Given the description of an element on the screen output the (x, y) to click on. 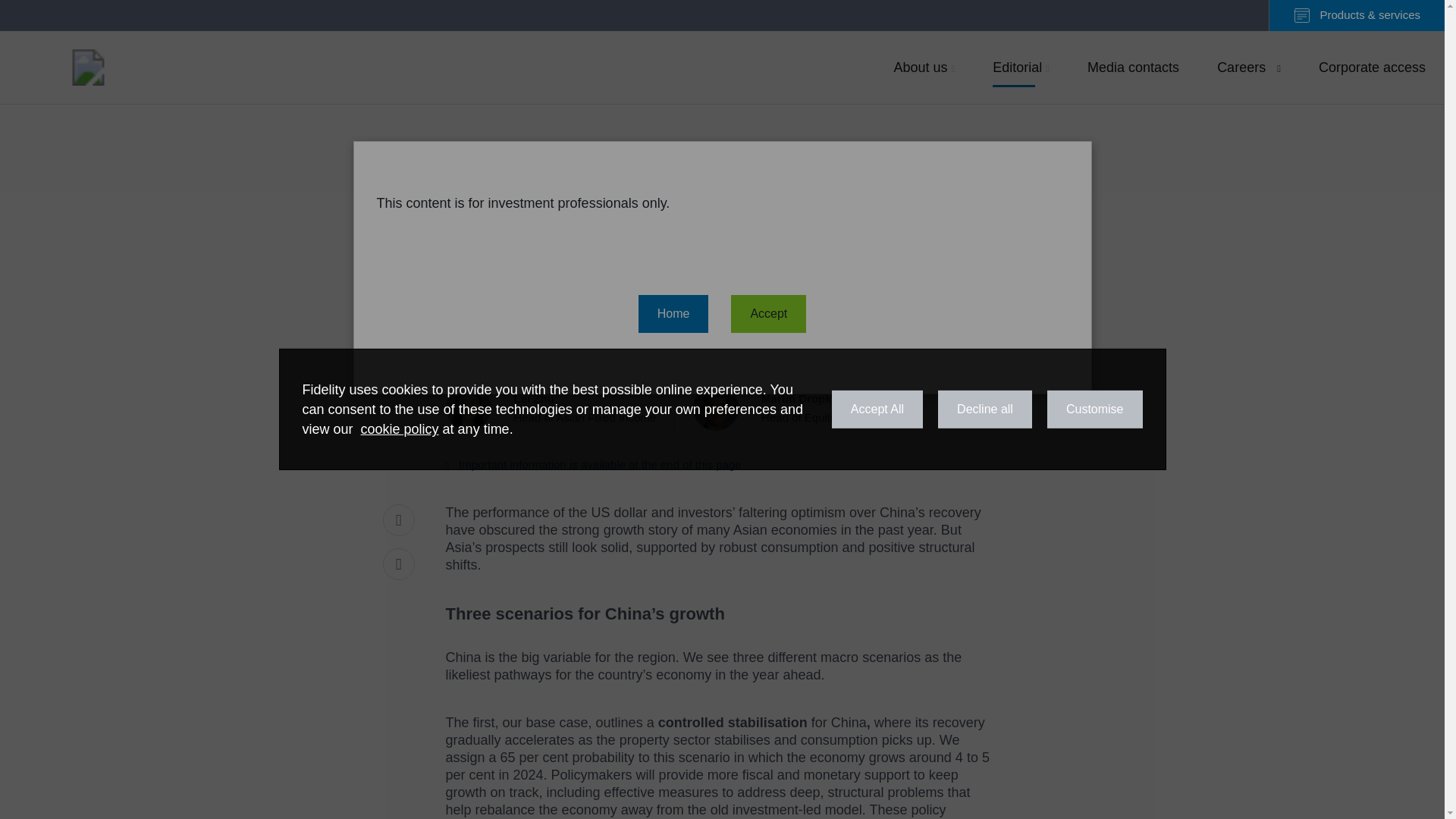
About us (924, 66)
disclaimer (593, 463)
Editorial (1021, 66)
Lei Zhu (560, 408)
Corporate access (1372, 66)
Media contacts (1133, 66)
Fidelity International Logo (800, 408)
Careers (88, 67)
Fidelity International Logo (1248, 66)
